Given the description of an element on the screen output the (x, y) to click on. 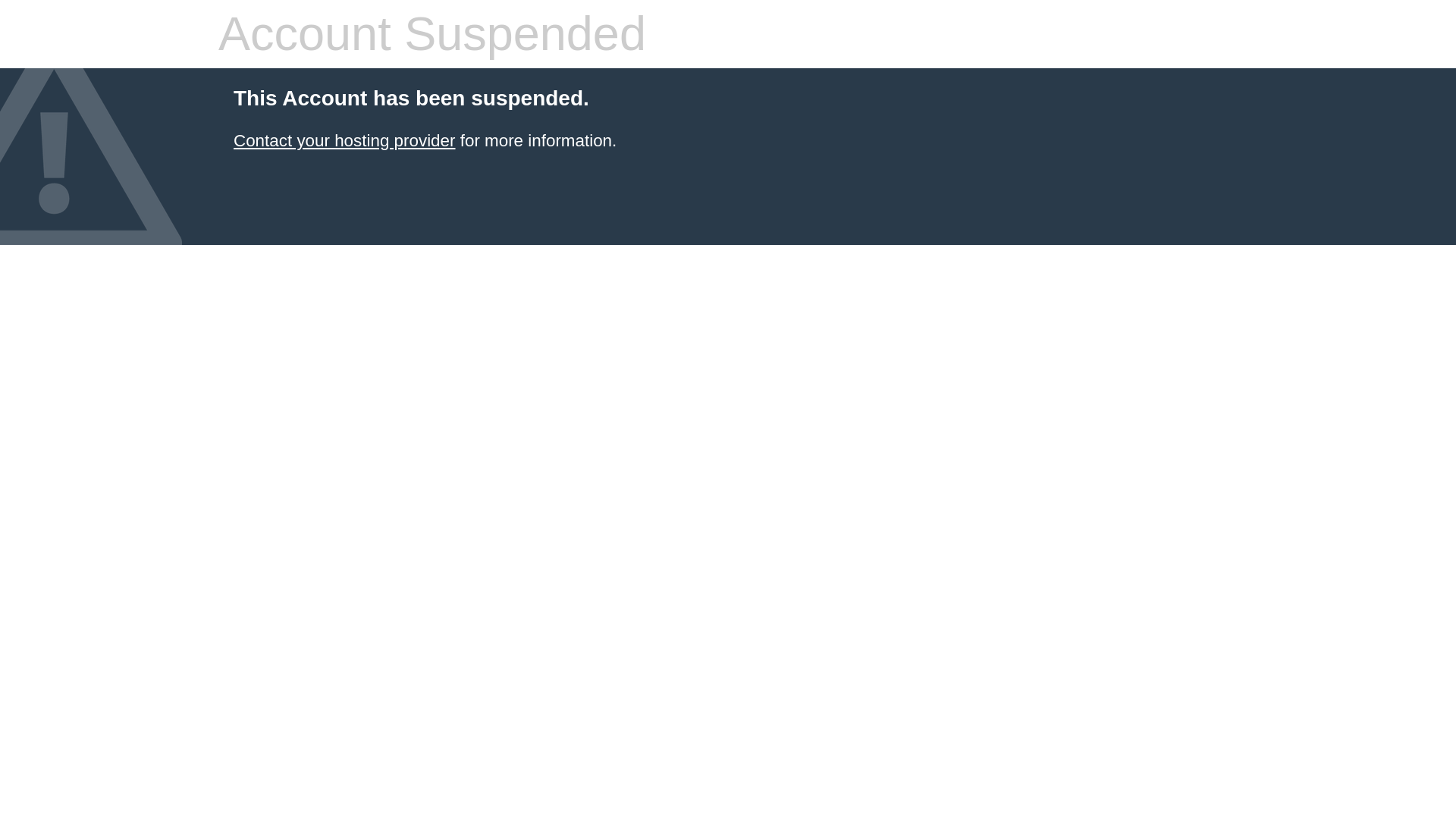
Contact your hosting provider (343, 140)
